Given the description of an element on the screen output the (x, y) to click on. 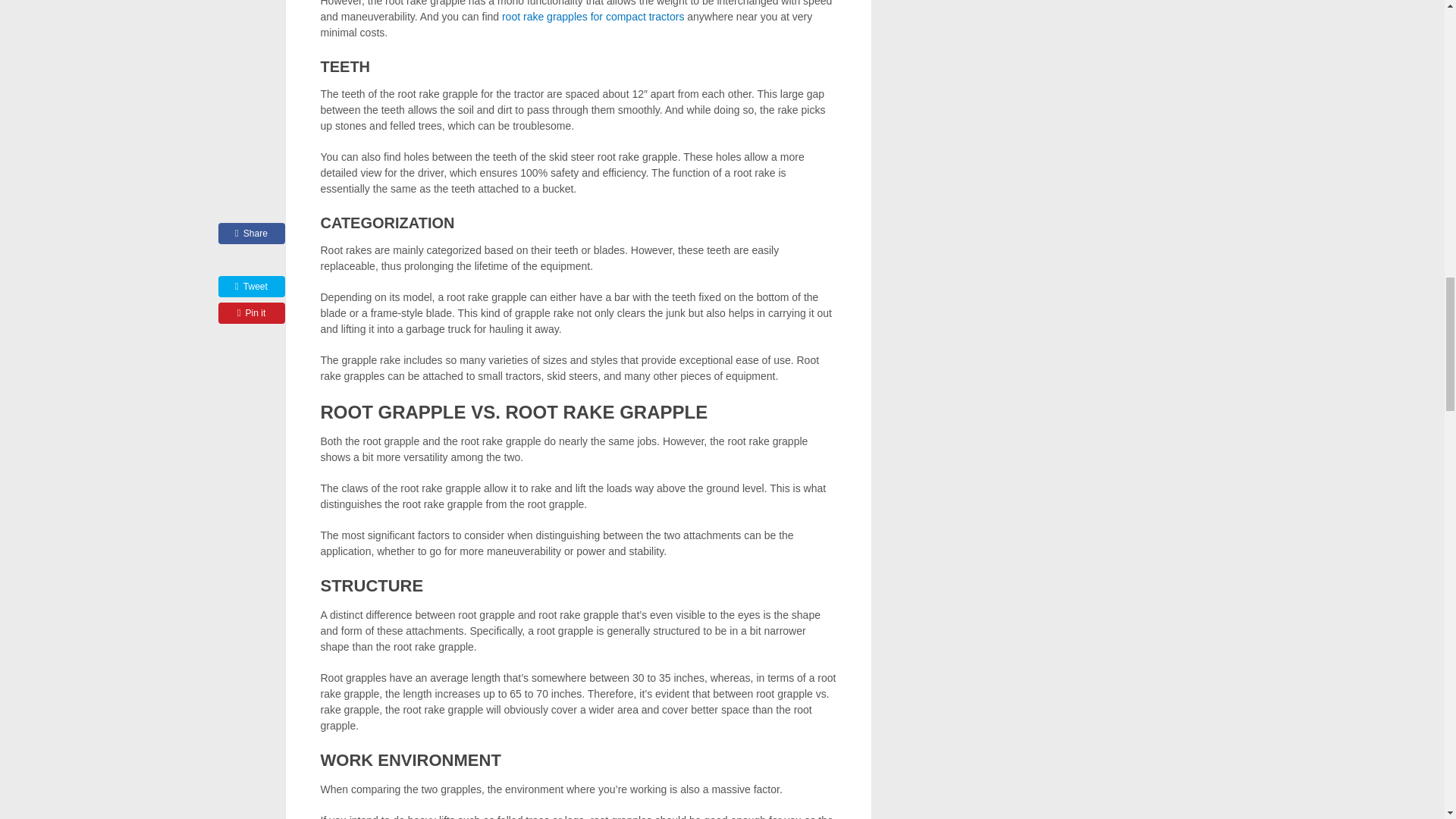
root rake grapples for compact tractors (591, 16)
